Given the description of an element on the screen output the (x, y) to click on. 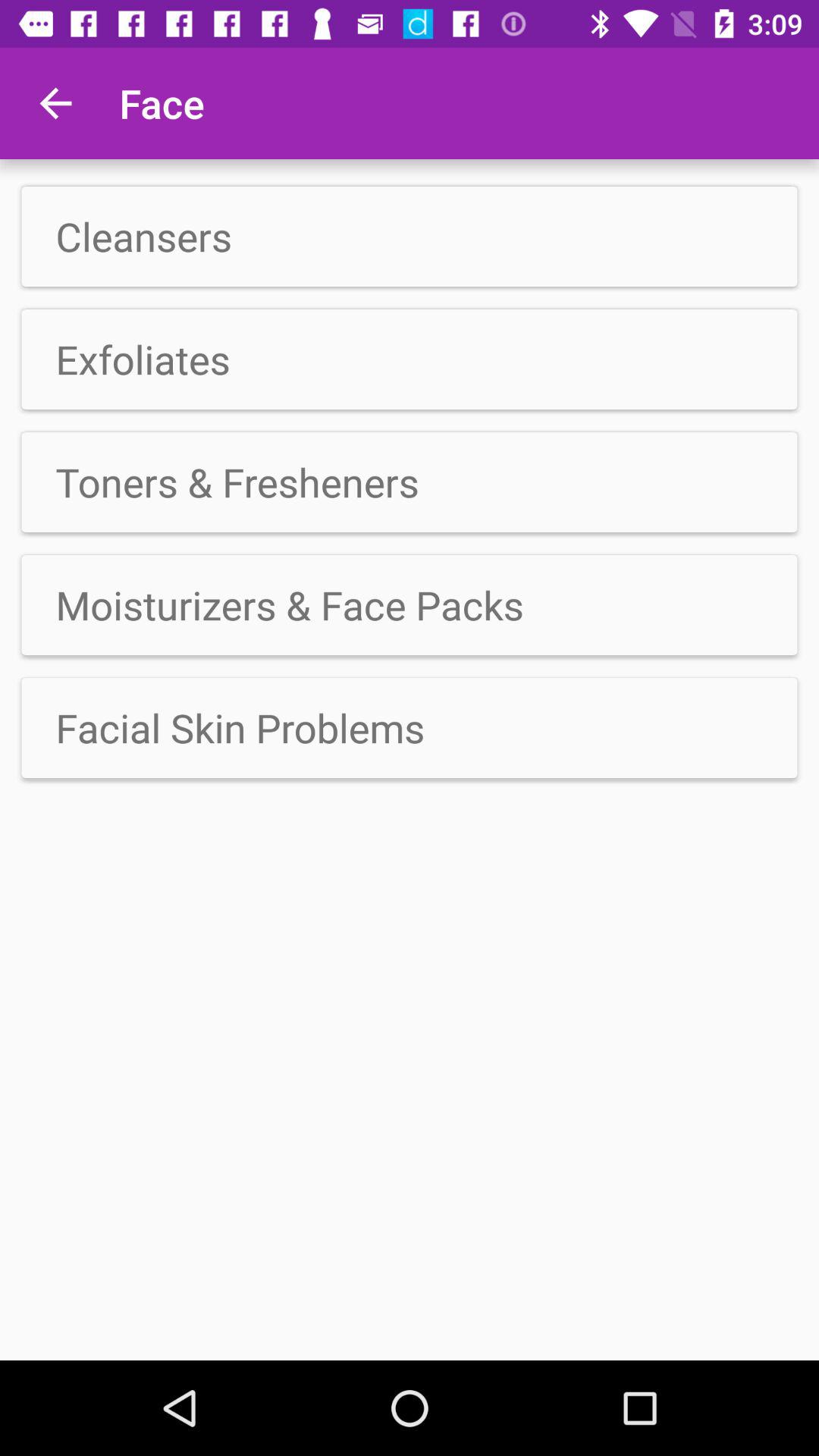
turn on icon below exfoliates app (409, 482)
